Given the description of an element on the screen output the (x, y) to click on. 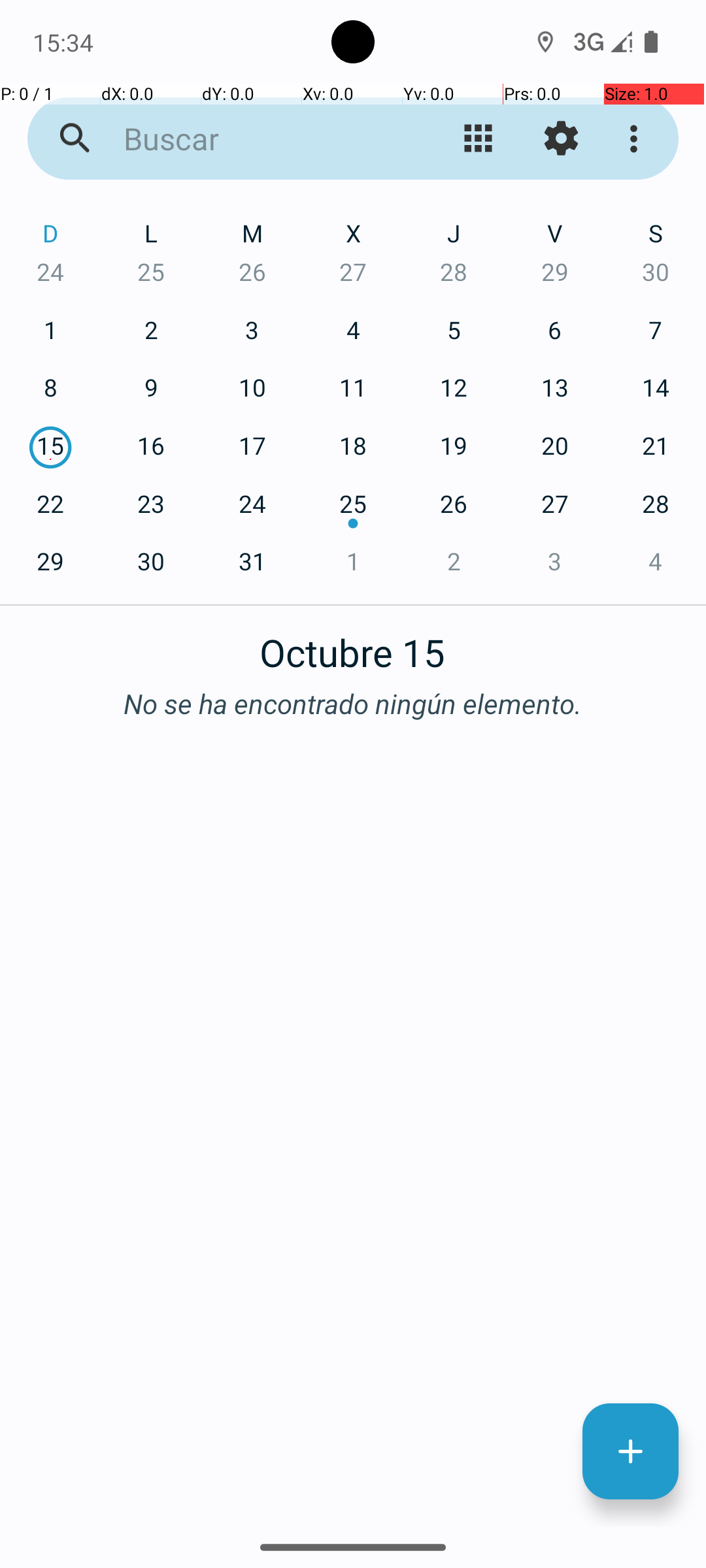
Octubre 15 Element type: android.widget.TextView (352, 644)
No se ha encontrado ningún elemento. Element type: android.widget.TextView (352, 702)
